Given the description of an element on the screen output the (x, y) to click on. 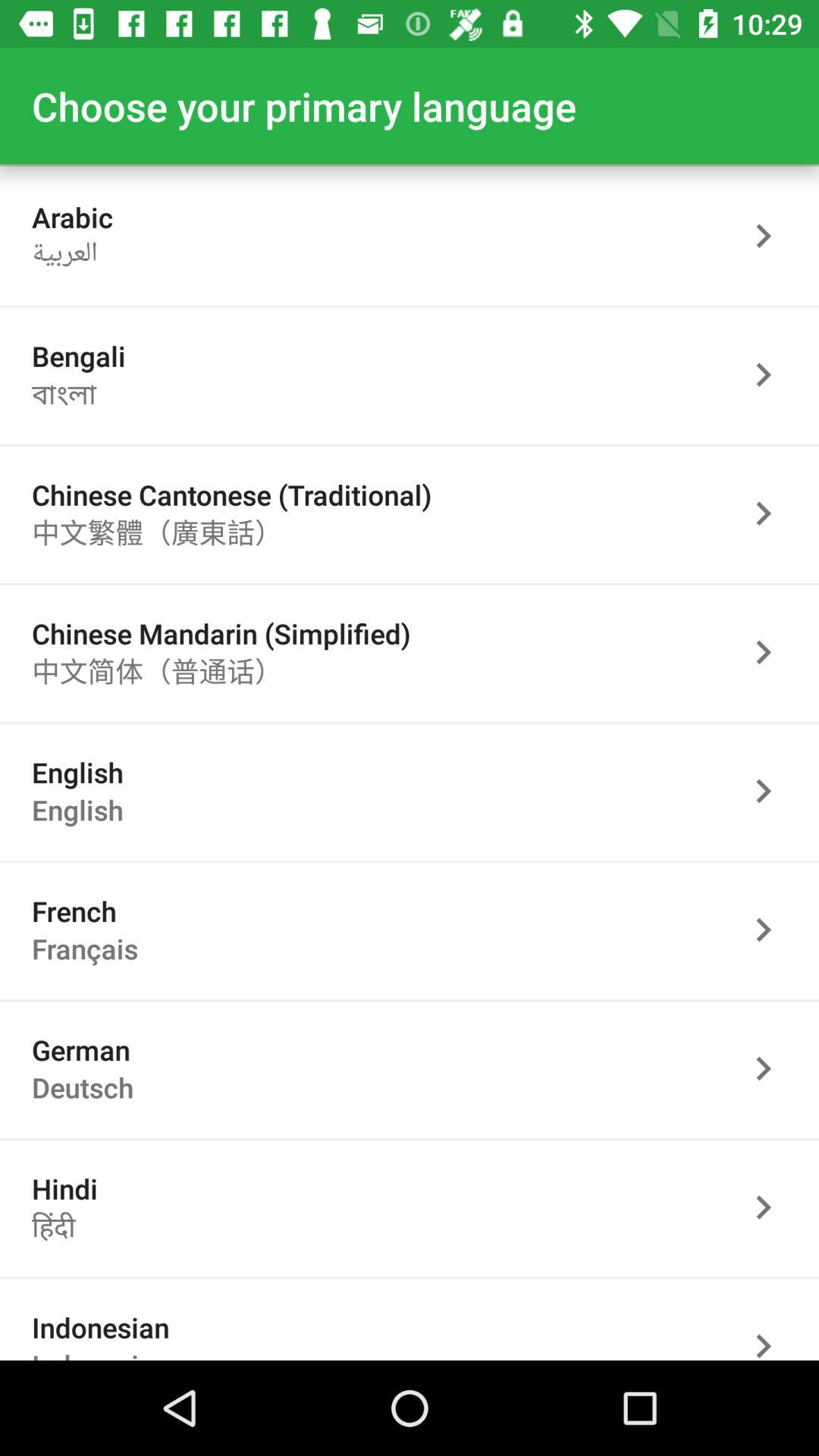
go next option (771, 1325)
